Given the description of an element on the screen output the (x, y) to click on. 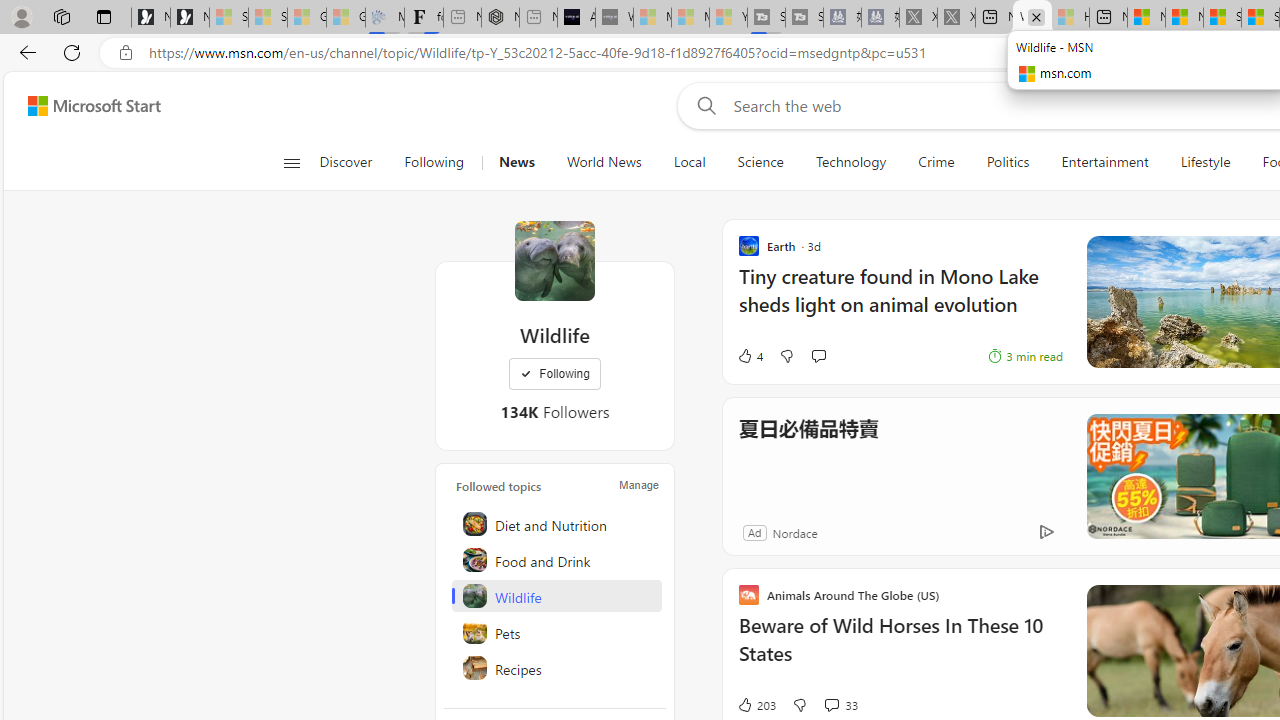
Science (760, 162)
Wildlife (554, 260)
Diet and Nutrition (556, 524)
AI Voice Changer for PC and Mac - Voice.ai (576, 17)
Local (689, 162)
Lifestyle (1204, 162)
News (516, 162)
Technology (850, 162)
